Given the description of an element on the screen output the (x, y) to click on. 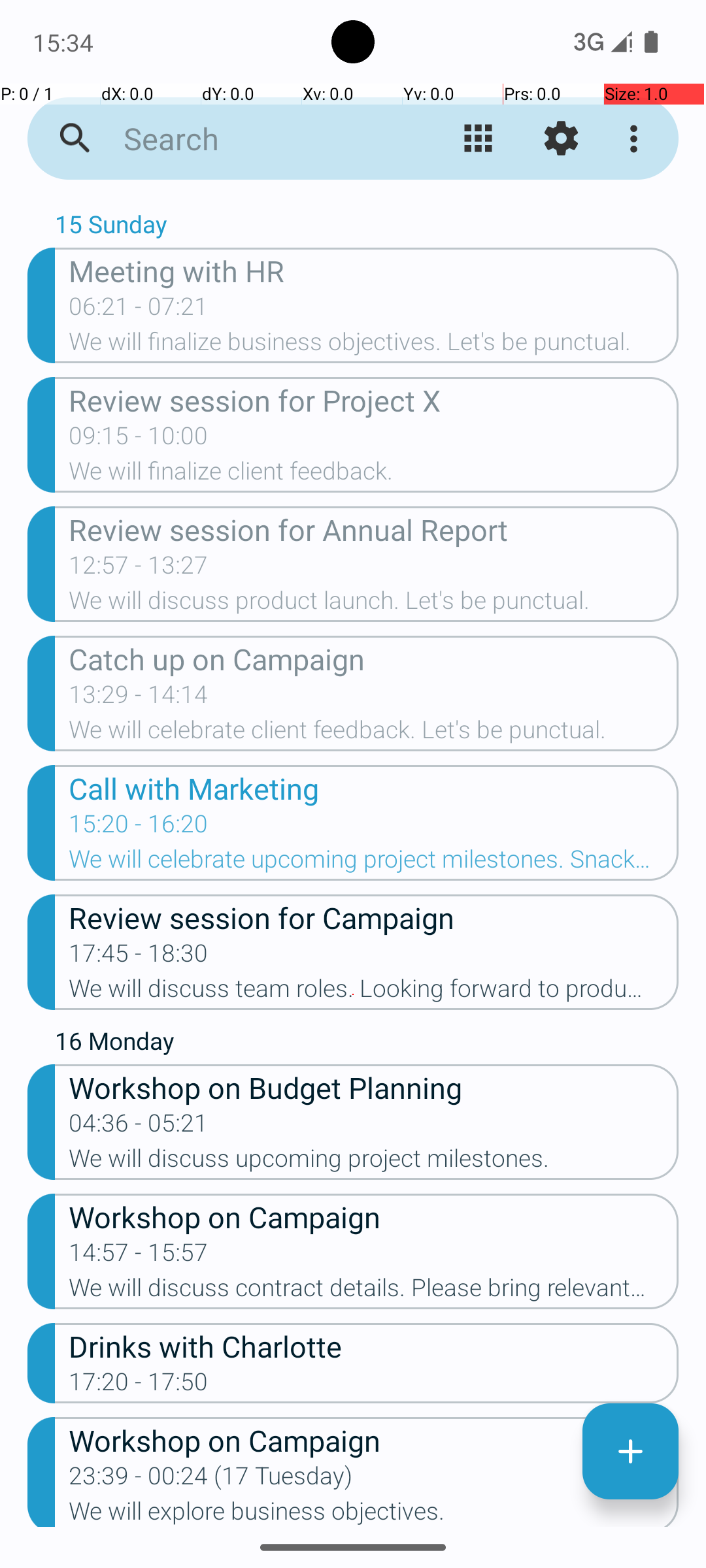
15 Sunday Element type: android.widget.TextView (366, 227)
16 Monday Element type: android.widget.TextView (366, 1043)
Meeting with HR Element type: android.widget.TextView (373, 269)
06:21 - 07:21 Element type: android.widget.TextView (137, 309)
We will finalize business objectives. Let's be punctual. Element type: android.widget.TextView (373, 345)
Review session for Project X Element type: android.widget.TextView (373, 399)
09:15 - 10:00 Element type: android.widget.TextView (137, 439)
We will finalize client feedback. Element type: android.widget.TextView (373, 474)
Review session for Annual Report Element type: android.widget.TextView (373, 528)
12:57 - 13:27 Element type: android.widget.TextView (137, 568)
We will discuss product launch. Let's be punctual. Element type: android.widget.TextView (373, 603)
Catch up on Campaign Element type: android.widget.TextView (373, 657)
13:29 - 14:14 Element type: android.widget.TextView (137, 698)
We will celebrate client feedback. Let's be punctual. Element type: android.widget.TextView (373, 733)
Call with Marketing Element type: android.widget.TextView (373, 787)
15:20 - 16:20 Element type: android.widget.TextView (137, 827)
We will celebrate upcoming project milestones. Snacks will be provided. Element type: android.widget.TextView (373, 862)
17:45 - 18:30 Element type: android.widget.TextView (137, 956)
We will discuss team roles. Looking forward to productive discussions. Element type: android.widget.TextView (373, 992)
Workshop on Budget Planning Element type: android.widget.TextView (373, 1086)
04:36 - 05:21 Element type: android.widget.TextView (137, 1126)
We will discuss upcoming project milestones. Element type: android.widget.TextView (373, 1161)
Workshop on Campaign Element type: android.widget.TextView (373, 1215)
14:57 - 15:57 Element type: android.widget.TextView (137, 1256)
We will discuss contract details. Please bring relevant documents. Element type: android.widget.TextView (373, 1291)
Drinks with Charlotte Element type: android.widget.TextView (373, 1345)
17:20 - 17:50 Element type: android.widget.TextView (137, 1385)
23:39 - 00:24 (17 Tuesday) Element type: android.widget.TextView (210, 1479)
We will explore business objectives. Element type: android.widget.TextView (373, 1511)
